Given the description of an element on the screen output the (x, y) to click on. 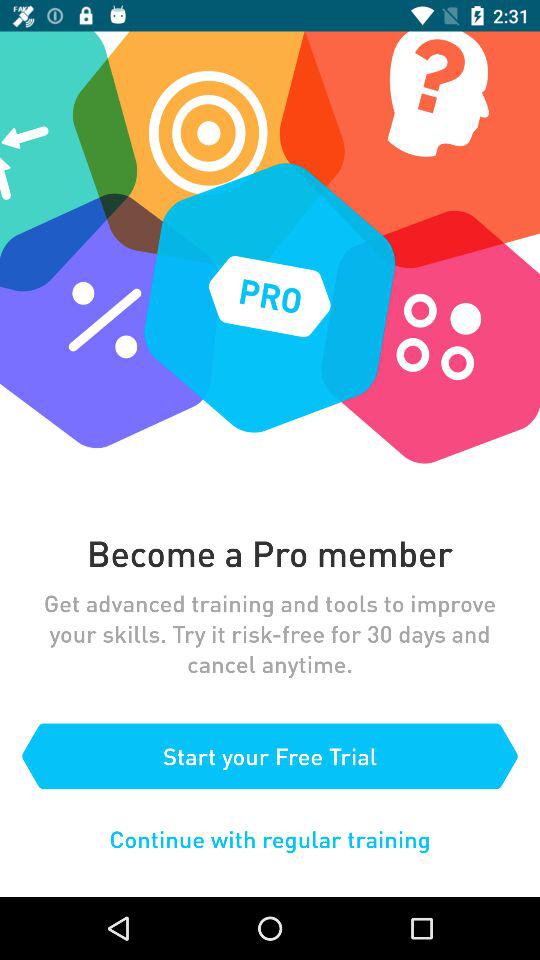
jump until the continue with regular item (270, 838)
